Given the description of an element on the screen output the (x, y) to click on. 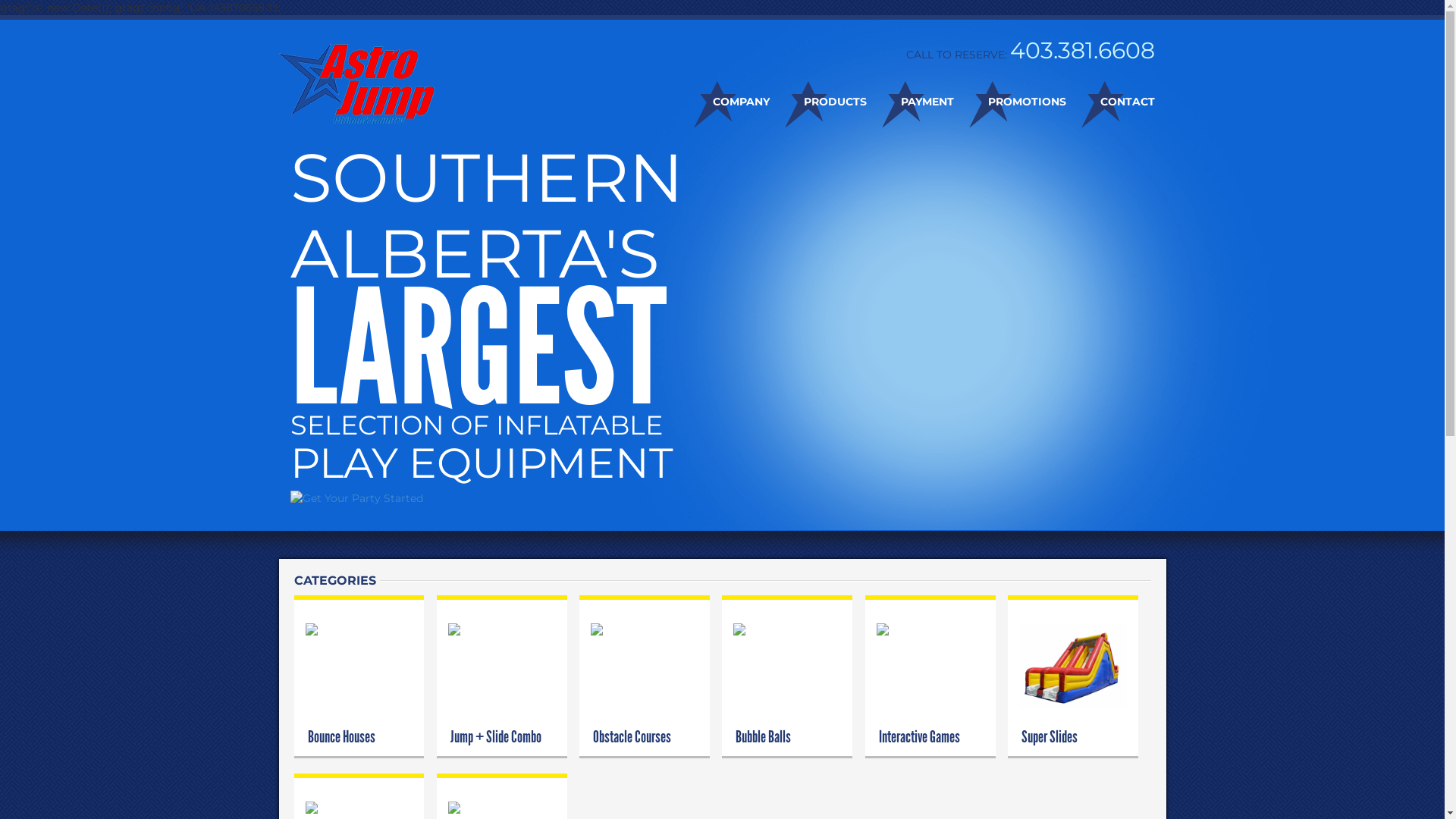
Super Slides Element type: text (1072, 665)
Bubble Balls Element type: text (786, 628)
Jump + Slide Combo Element type: text (501, 628)
PRODUCTS Element type: text (817, 101)
COMPANY Element type: text (722, 101)
CONTACT Element type: text (1110, 101)
PROMOTIONS Element type: text (1009, 101)
Bounce Houses Element type: text (358, 628)
Interactive Games Element type: text (930, 628)
Obstacle Courses Element type: text (644, 628)
PAYMENT Element type: text (909, 101)
